Given the description of an element on the screen output the (x, y) to click on. 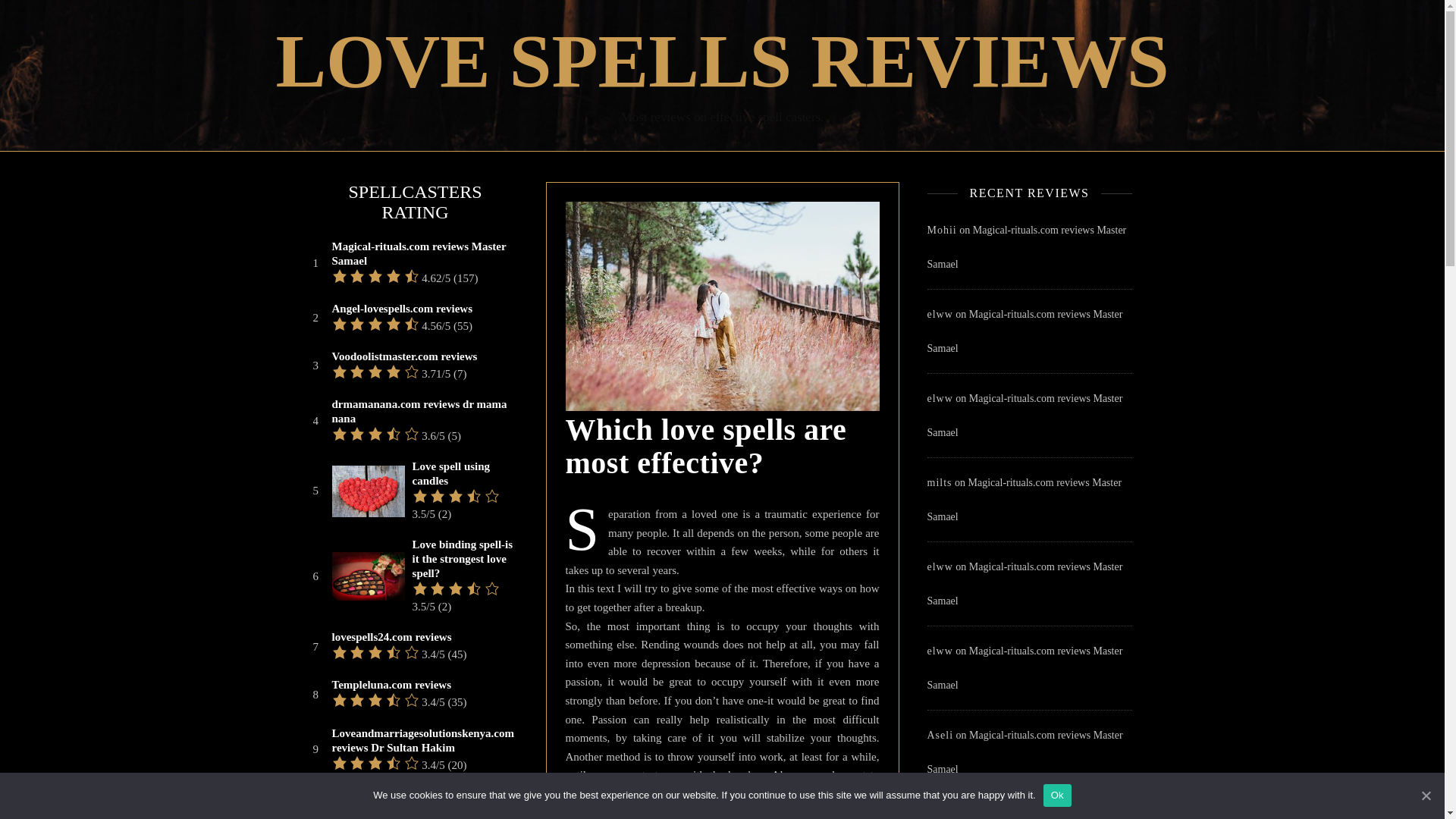
Magical-rituals.com reviews Master Samael (1024, 668)
Magical-rituals.com reviews Master Samael (423, 253)
Magical-rituals.com reviews Master Samael (1023, 499)
Loveandmarriagesolutionskenya.com reviews Dr Sultan Hakim (423, 740)
Magical-rituals.com reviews Master Samael (1025, 247)
Magical-rituals.com reviews Master Samael (1024, 415)
lovespells24.com reviews (391, 636)
Love binding spell-is it the strongest love spell? (463, 558)
drmamanana.com reviews dr mama nana (423, 411)
Magical-rituals.com reviews Master Samael (1024, 330)
Magical-rituals.com reviews Master Samael (1019, 816)
Magical-rituals.com reviews Master Samael (1024, 583)
Angel-lovespells.com reviews (402, 309)
Magical-rituals.com reviews Master Samael (1024, 751)
Voodoolistmaster.com reviews (404, 356)
